Given the description of an element on the screen output the (x, y) to click on. 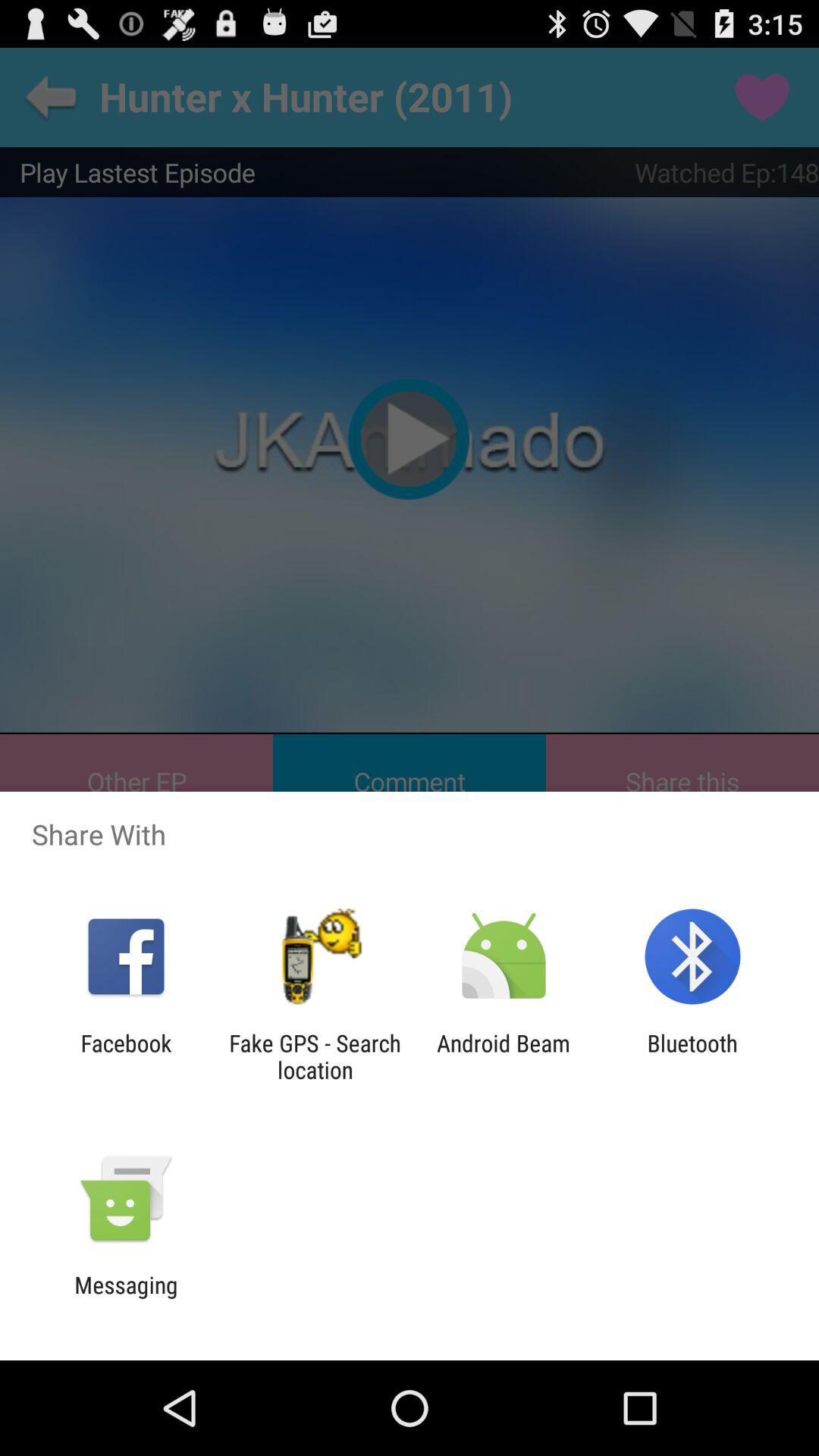
click app at the bottom right corner (692, 1056)
